Given the description of an element on the screen output the (x, y) to click on. 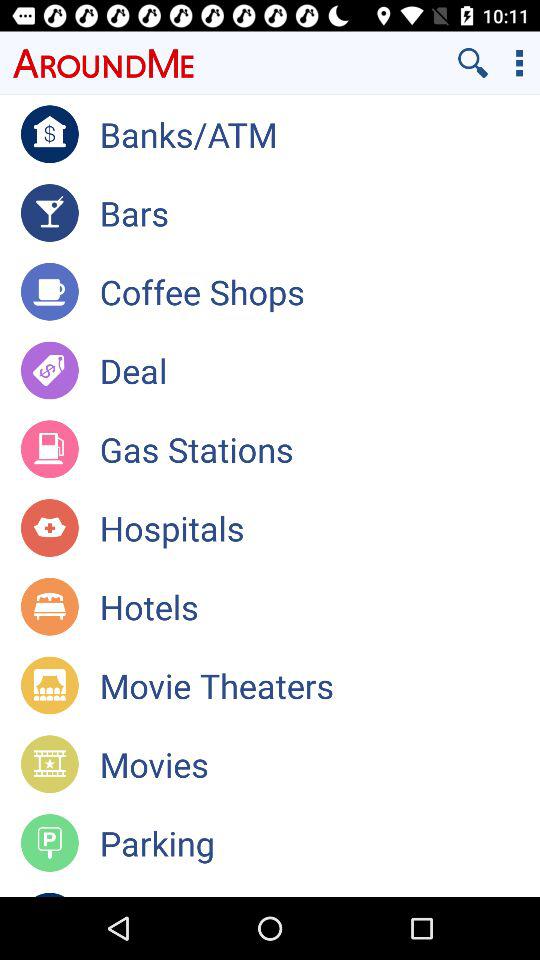
open settings (519, 62)
